Given the description of an element on the screen output the (x, y) to click on. 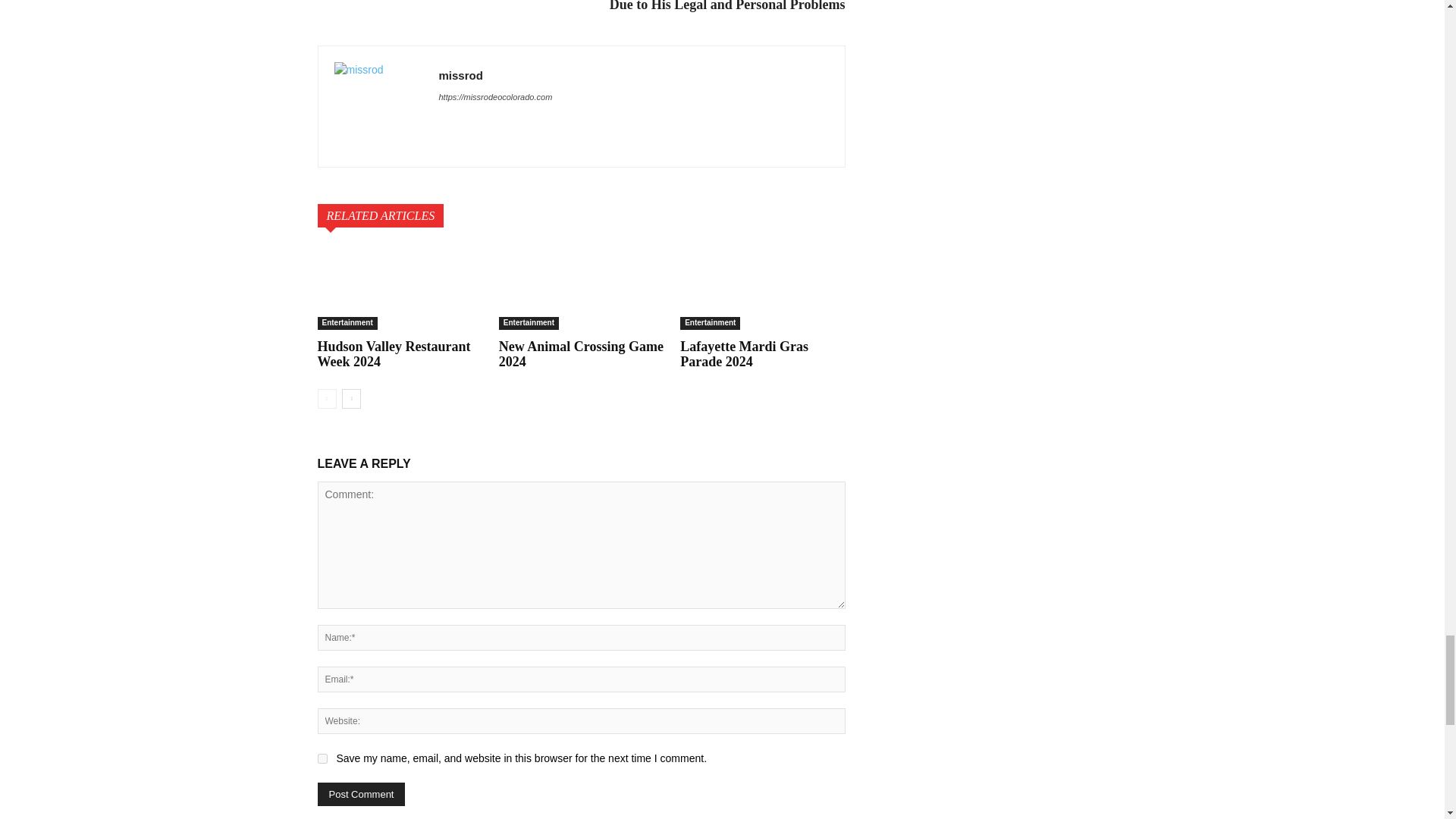
Post Comment (360, 793)
yes (321, 758)
